Given the description of an element on the screen output the (x, y) to click on. 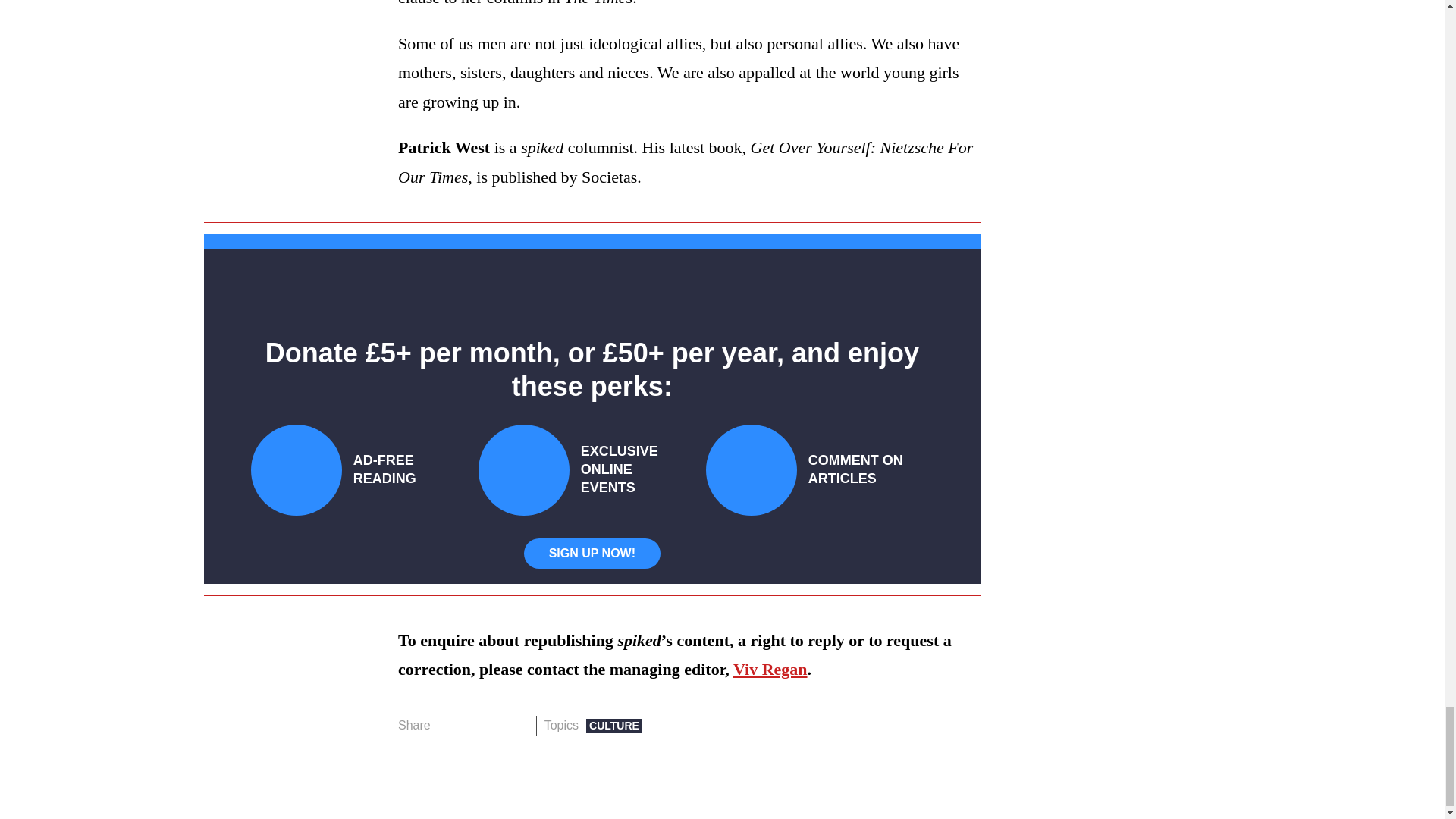
Share on Whatsapp (494, 725)
Share on Twitter (471, 725)
Share on Email (518, 725)
Share on Facebook (448, 725)
